Given the description of an element on the screen output the (x, y) to click on. 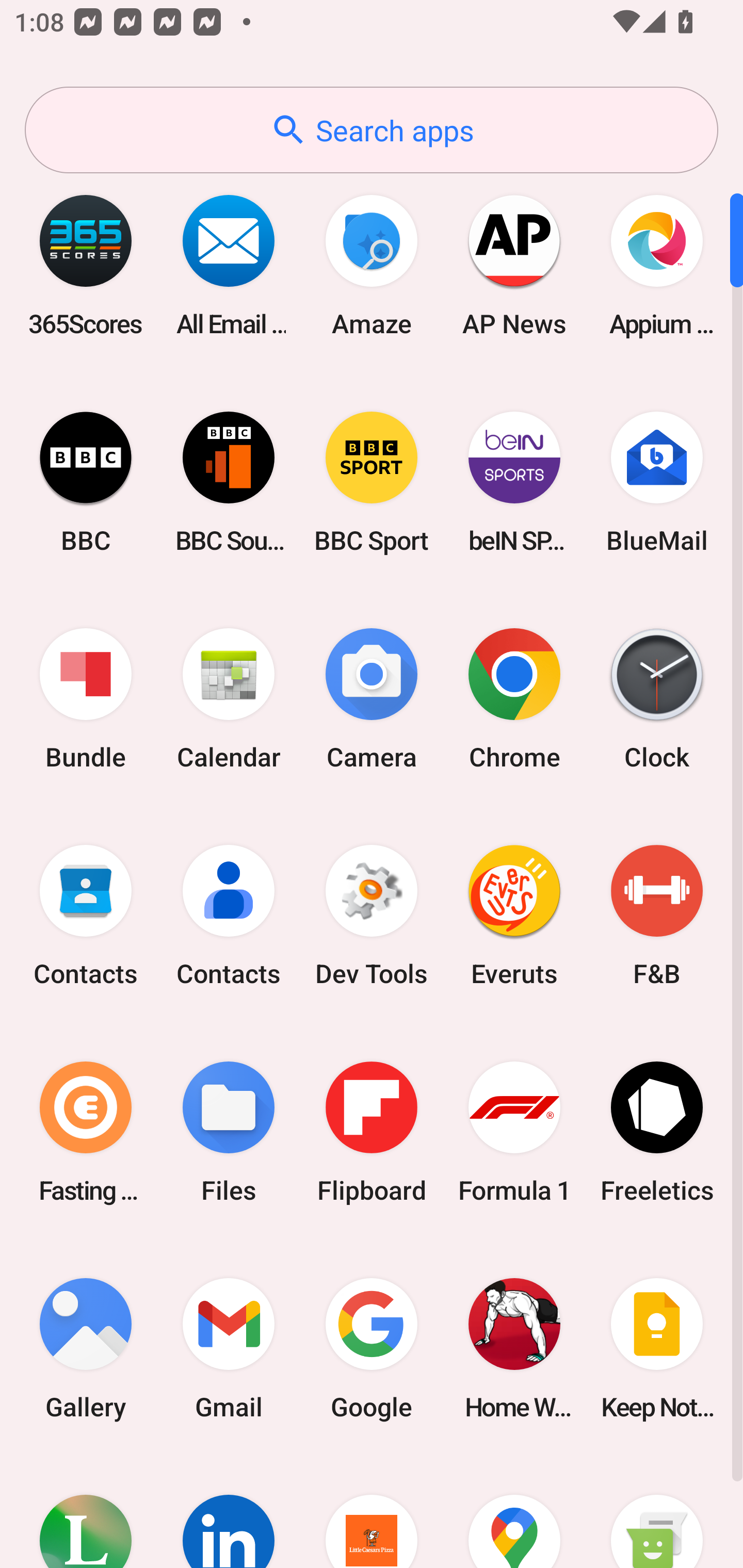
  Search apps (371, 130)
365Scores (85, 264)
All Email Connect (228, 264)
Amaze (371, 264)
AP News (514, 264)
Appium Settings (656, 264)
BBC (85, 482)
BBC Sounds (228, 482)
BBC Sport (371, 482)
beIN SPORTS (514, 482)
BlueMail (656, 482)
Bundle (85, 699)
Calendar (228, 699)
Camera (371, 699)
Chrome (514, 699)
Clock (656, 699)
Contacts (85, 915)
Contacts (228, 915)
Dev Tools (371, 915)
Everuts (514, 915)
F&B (656, 915)
Fasting Coach (85, 1131)
Files (228, 1131)
Flipboard (371, 1131)
Formula 1 (514, 1131)
Freeletics (656, 1131)
Gallery (85, 1348)
Gmail (228, 1348)
Google (371, 1348)
Home Workout (514, 1348)
Keep Notes (656, 1348)
Lifesum (85, 1512)
LinkedIn (228, 1512)
Little Caesars Pizza (371, 1512)
Maps (514, 1512)
Messaging (656, 1512)
